Given the description of an element on the screen output the (x, y) to click on. 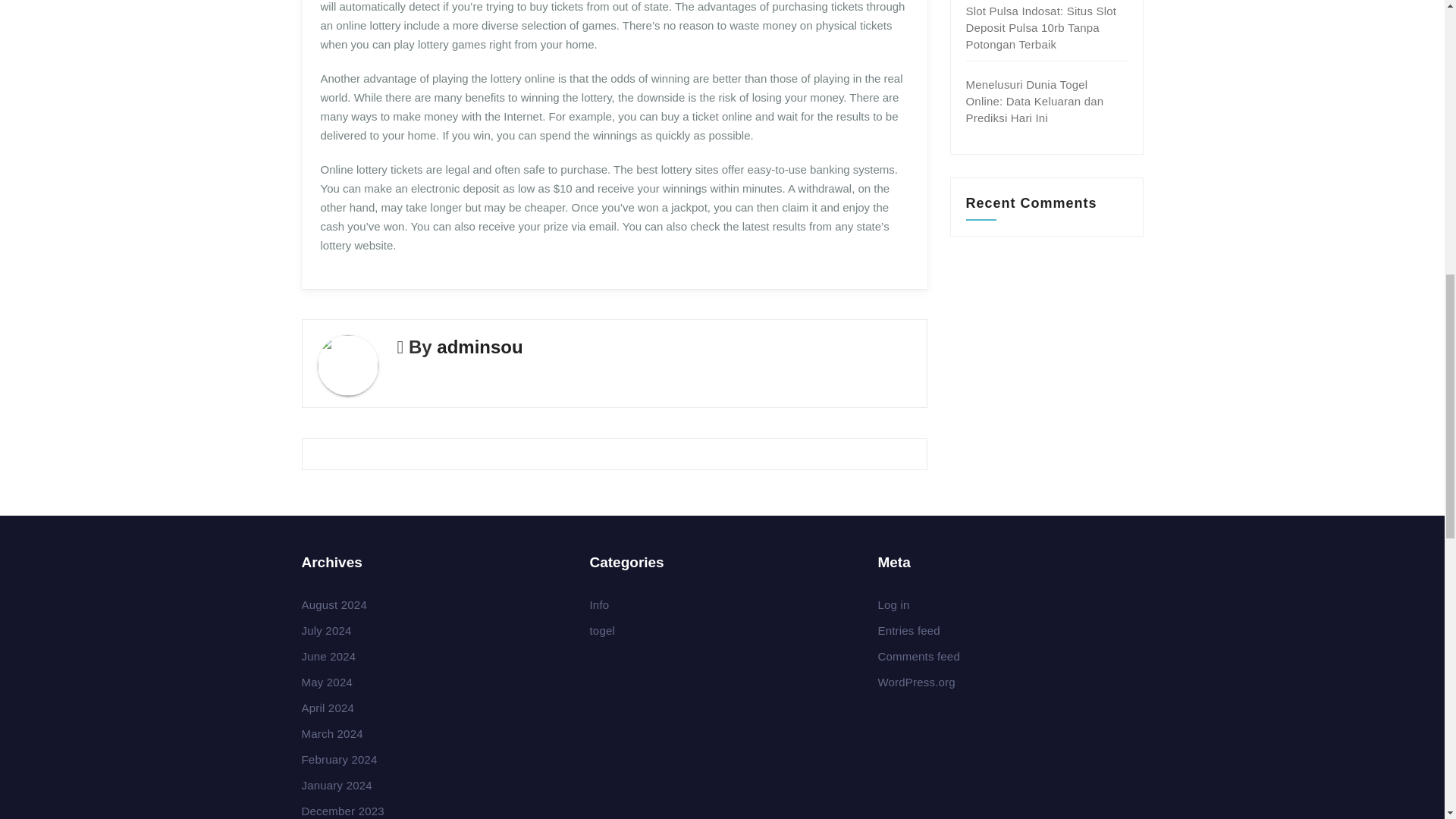
December 2023 (342, 810)
July 2024 (326, 630)
adminsou (479, 346)
January 2024 (336, 784)
March 2024 (331, 733)
June 2024 (328, 656)
August 2024 (333, 604)
February 2024 (339, 758)
April 2024 (328, 707)
May 2024 (326, 681)
